Given the description of an element on the screen output the (x, y) to click on. 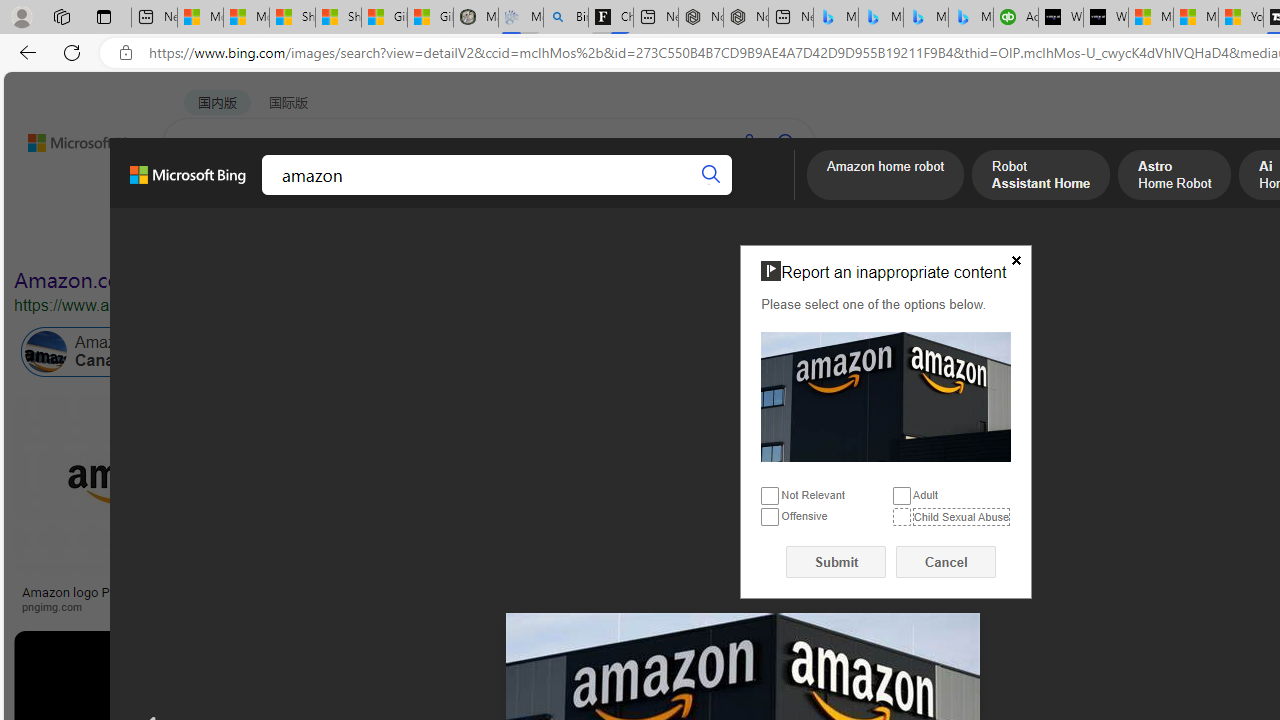
Color (305, 237)
Image size (221, 237)
VIDEOS (458, 195)
Amazon Cloud (564, 351)
Date (591, 237)
Image result for amazon (923, 675)
pngimg.com (58, 605)
Amazon Canada Online (45, 351)
usatoday.com (587, 605)
Microsoft Bing Travel - Shangri-La Hotel Bangkok (970, 17)
Amazon Cloud (606, 351)
